Given the description of an element on the screen output the (x, y) to click on. 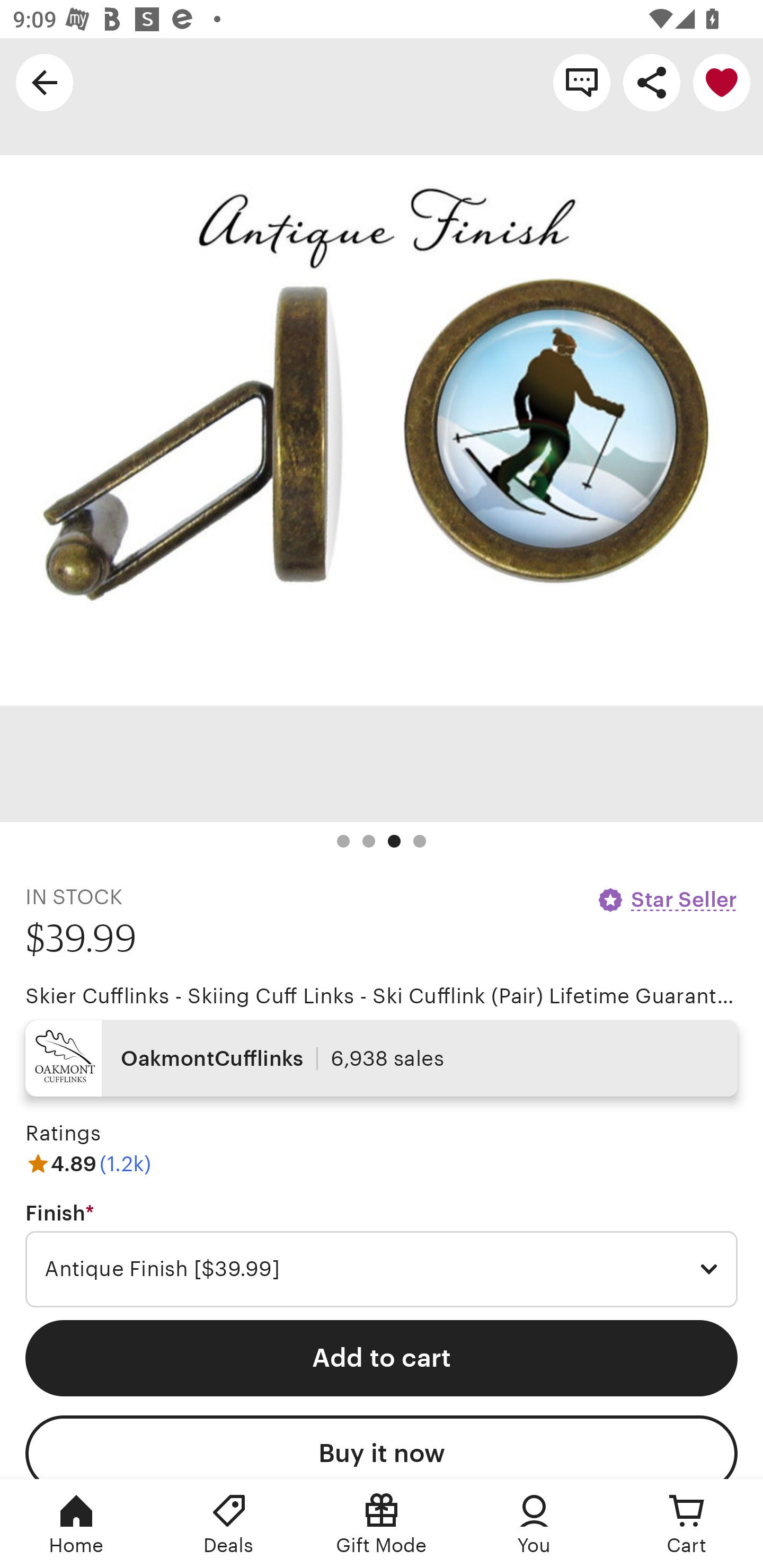
Navigate up (44, 81)
Contact shop (581, 81)
Share (651, 81)
Star Seller (666, 899)
OakmontCufflinks 6,938 sales (381, 1058)
Ratings (62, 1133)
4.89 (1.2k) (88, 1163)
Finish * Required Antique Finish [$39.99] (381, 1254)
Antique Finish [$39.99] (381, 1268)
Add to cart (381, 1358)
Buy it now (381, 1446)
Deals (228, 1523)
Gift Mode (381, 1523)
You (533, 1523)
Cart (686, 1523)
